Given the description of an element on the screen output the (x, y) to click on. 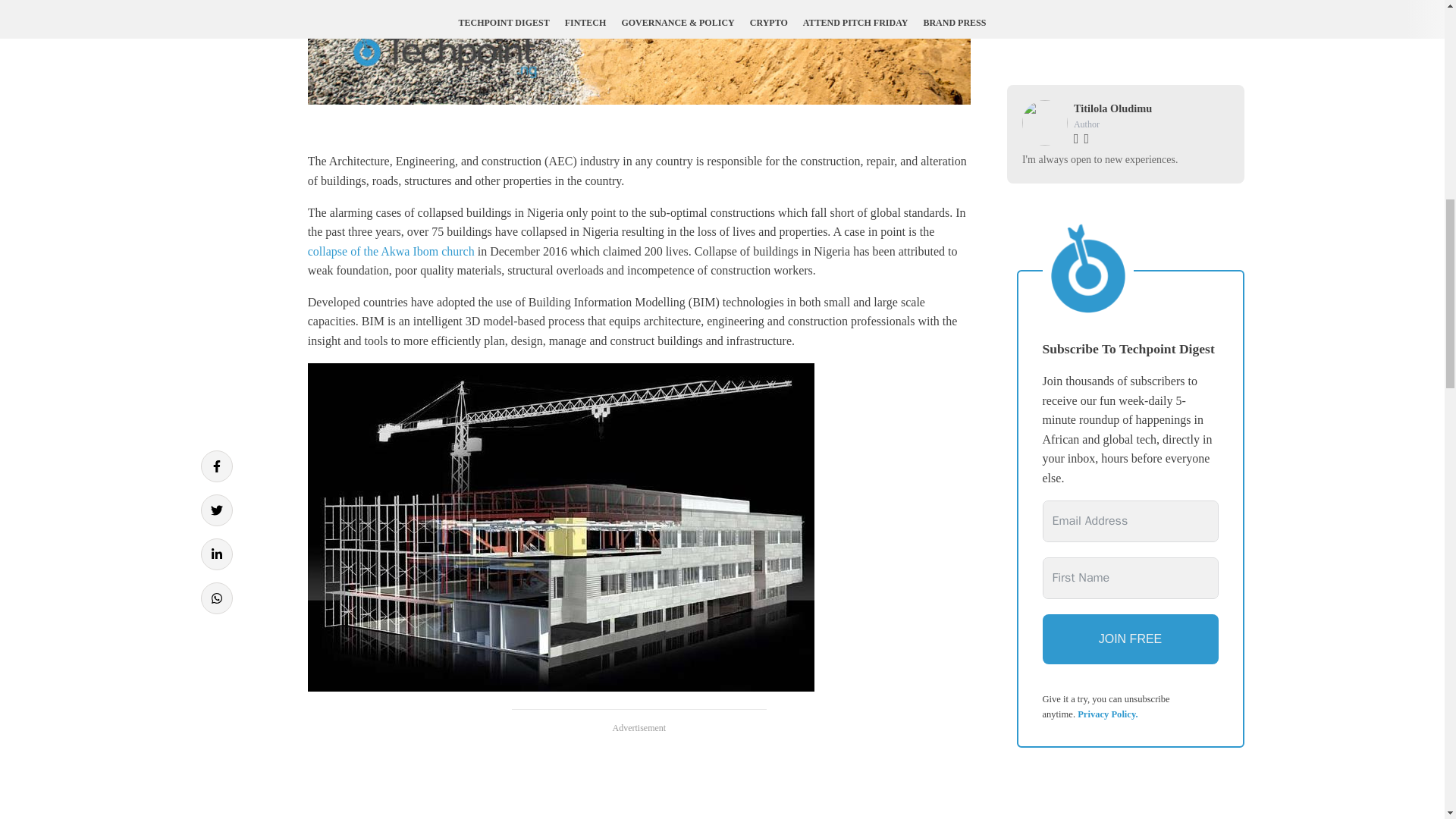
JOIN FREE (1129, 639)
collapse of the Akwa Ibom church (390, 250)
Privacy Policy. (1107, 714)
